Given the description of an element on the screen output the (x, y) to click on. 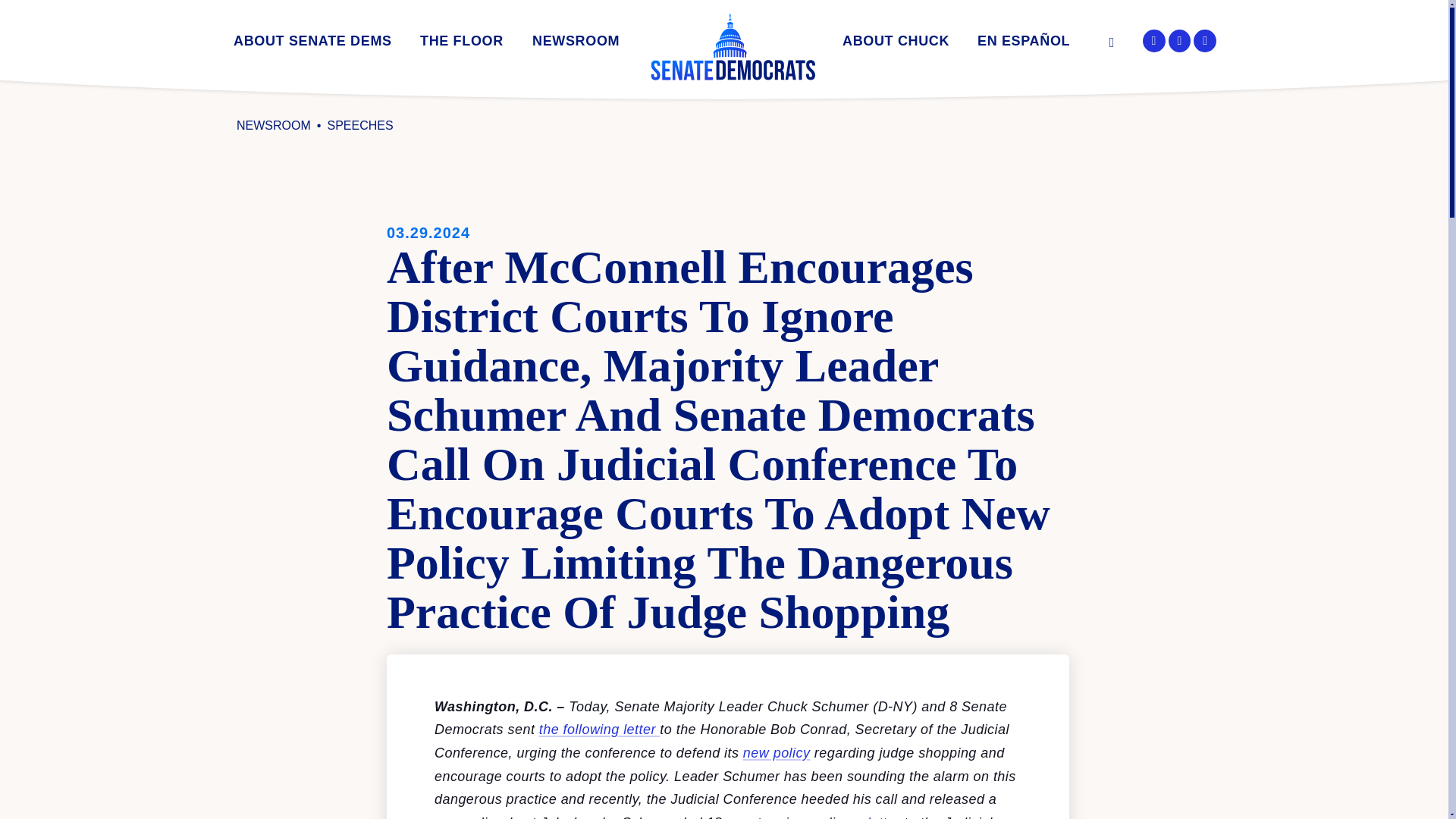
Our Values (346, 65)
Press (646, 65)
About Senate Dems (311, 44)
Nuestros Valores (1090, 65)
letter (883, 816)
About Chuck (896, 44)
new policy (776, 752)
Wrap Up (533, 65)
NEWSROOM (576, 44)
ABOUT SENATE DEMS (311, 44)
